Given the description of an element on the screen output the (x, y) to click on. 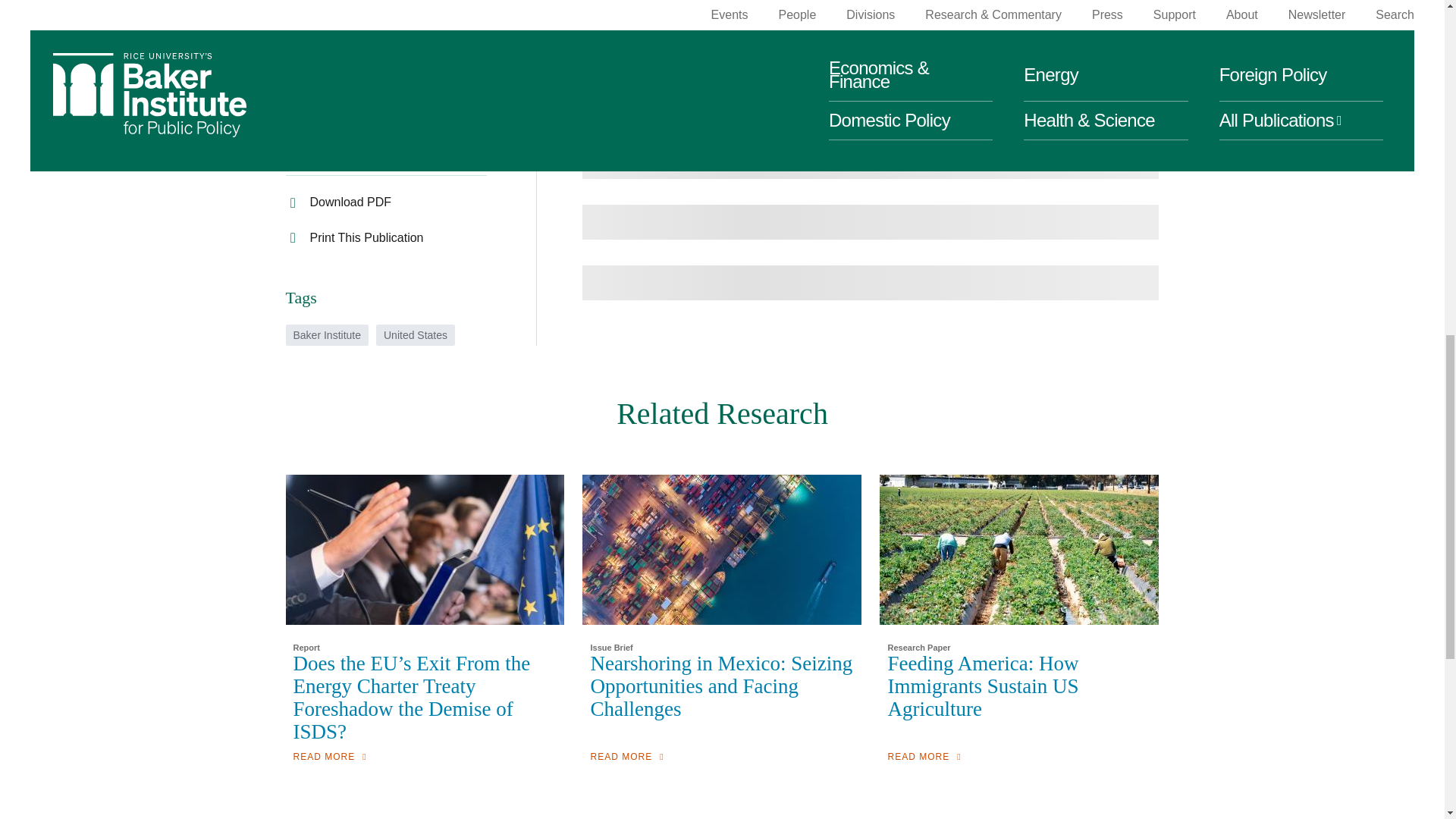
Share to Facebook (323, 42)
Share to Linkedin (320, 148)
Share to Email (312, 112)
Share to Twitter (315, 76)
